Given the description of an element on the screen output the (x, y) to click on. 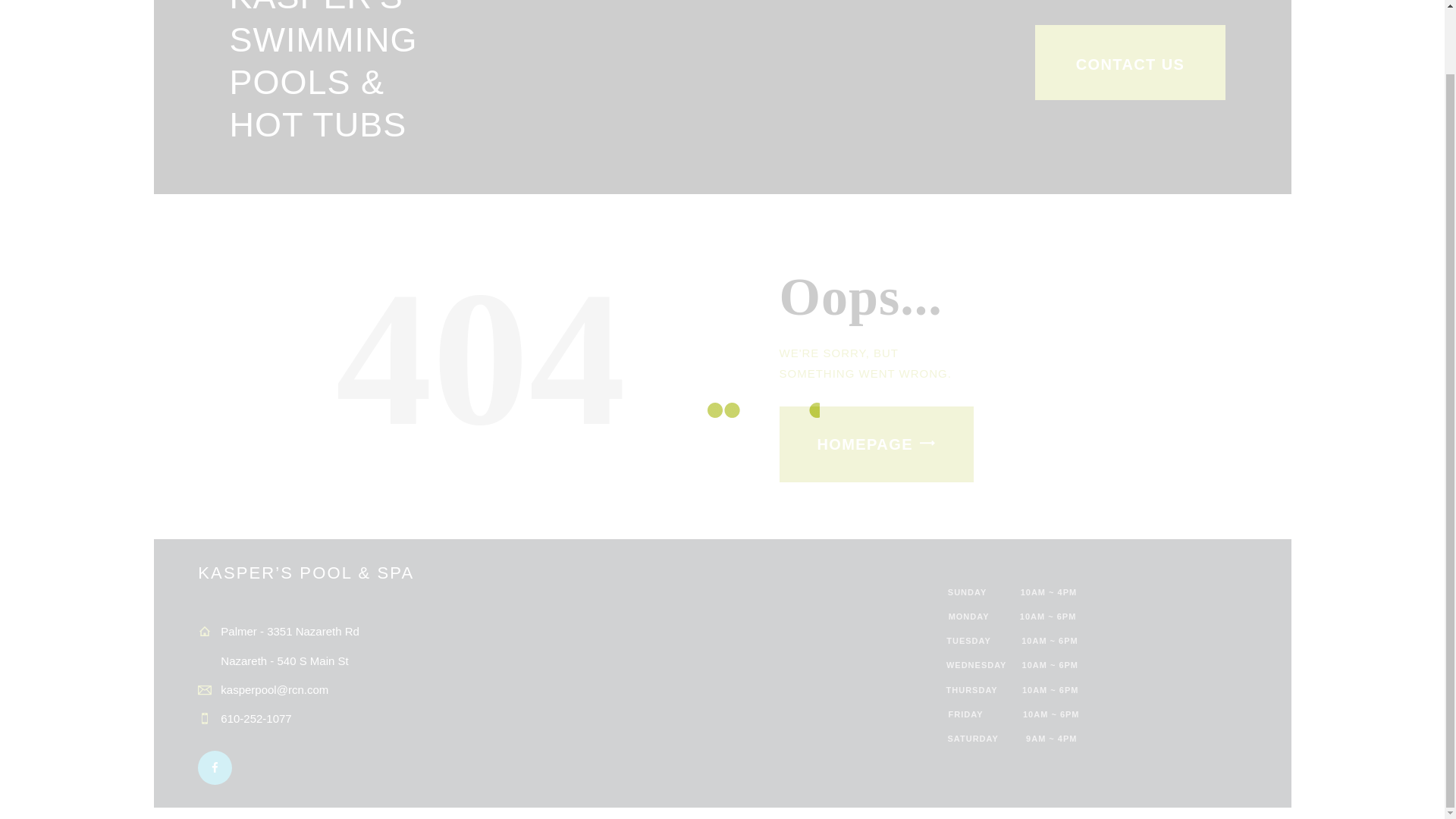
610-252-1077 (256, 717)
HOMEPAGE (876, 444)
CONTACT US (1130, 62)
